Given the description of an element on the screen output the (x, y) to click on. 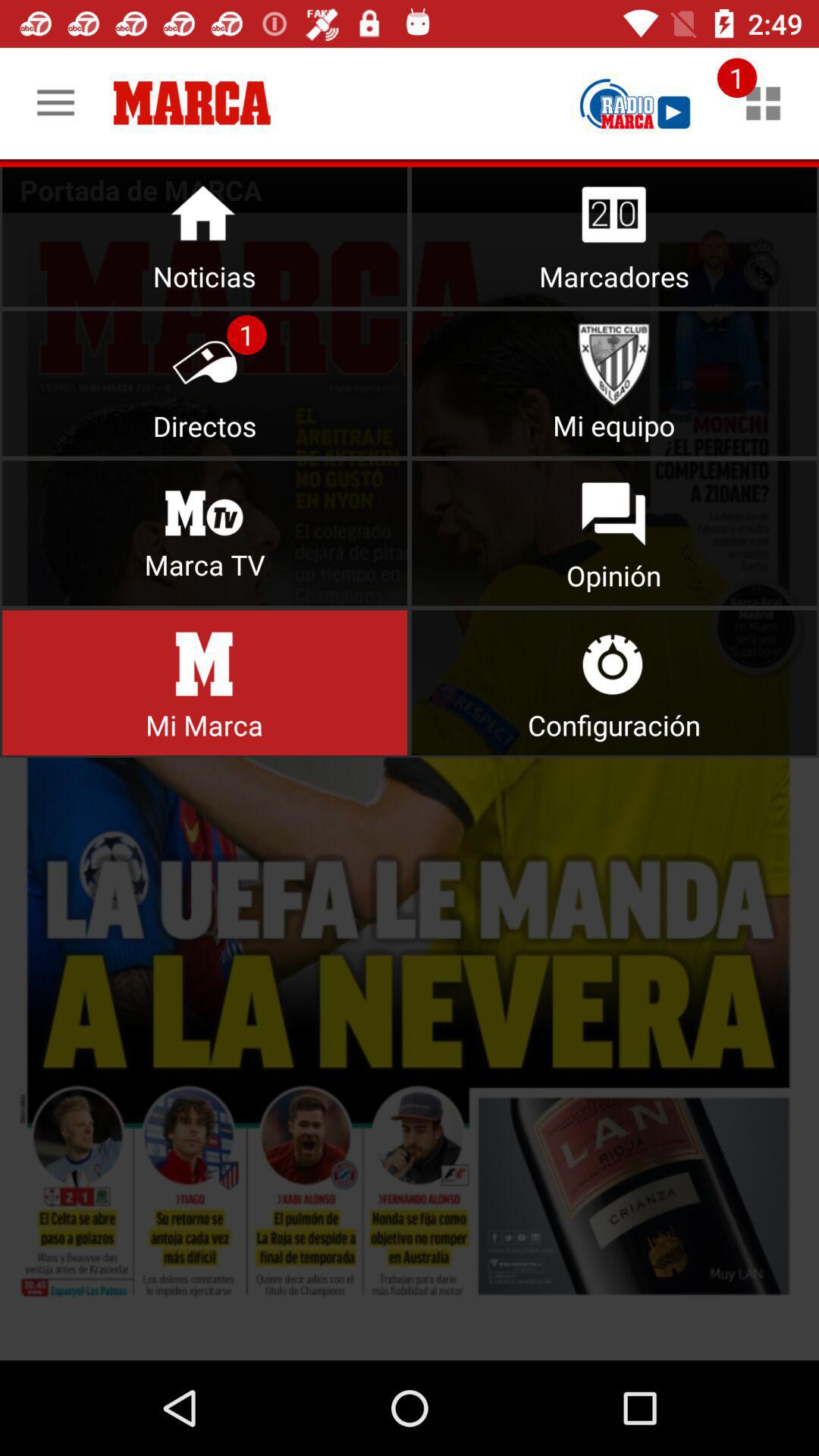
toggle navigation option (763, 103)
